Given the description of an element on the screen output the (x, y) to click on. 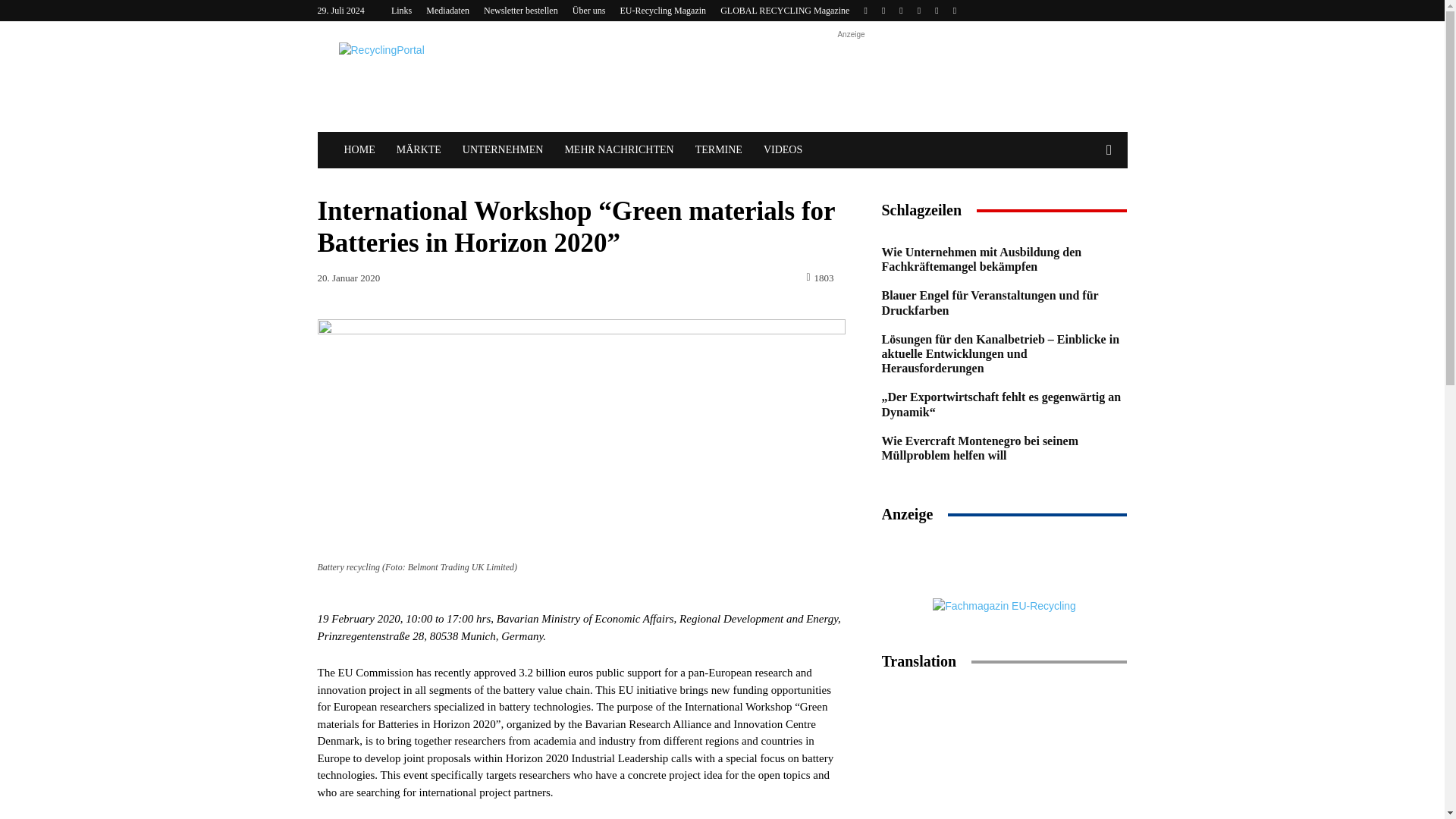
Newsletter bestellen (520, 9)
GLOBAL RECYCLING Magazine (784, 9)
HOME (359, 149)
TERMINE (718, 149)
MEHR NACHRICHTEN (618, 149)
UNTERNEHMEN (502, 149)
BatteryRecyclingUK-Belmont-Trading-UK-Limited-1074x483 (580, 437)
Mediadaten (447, 9)
Links (401, 9)
EU-Recycling Magazin (663, 9)
